Given the description of an element on the screen output the (x, y) to click on. 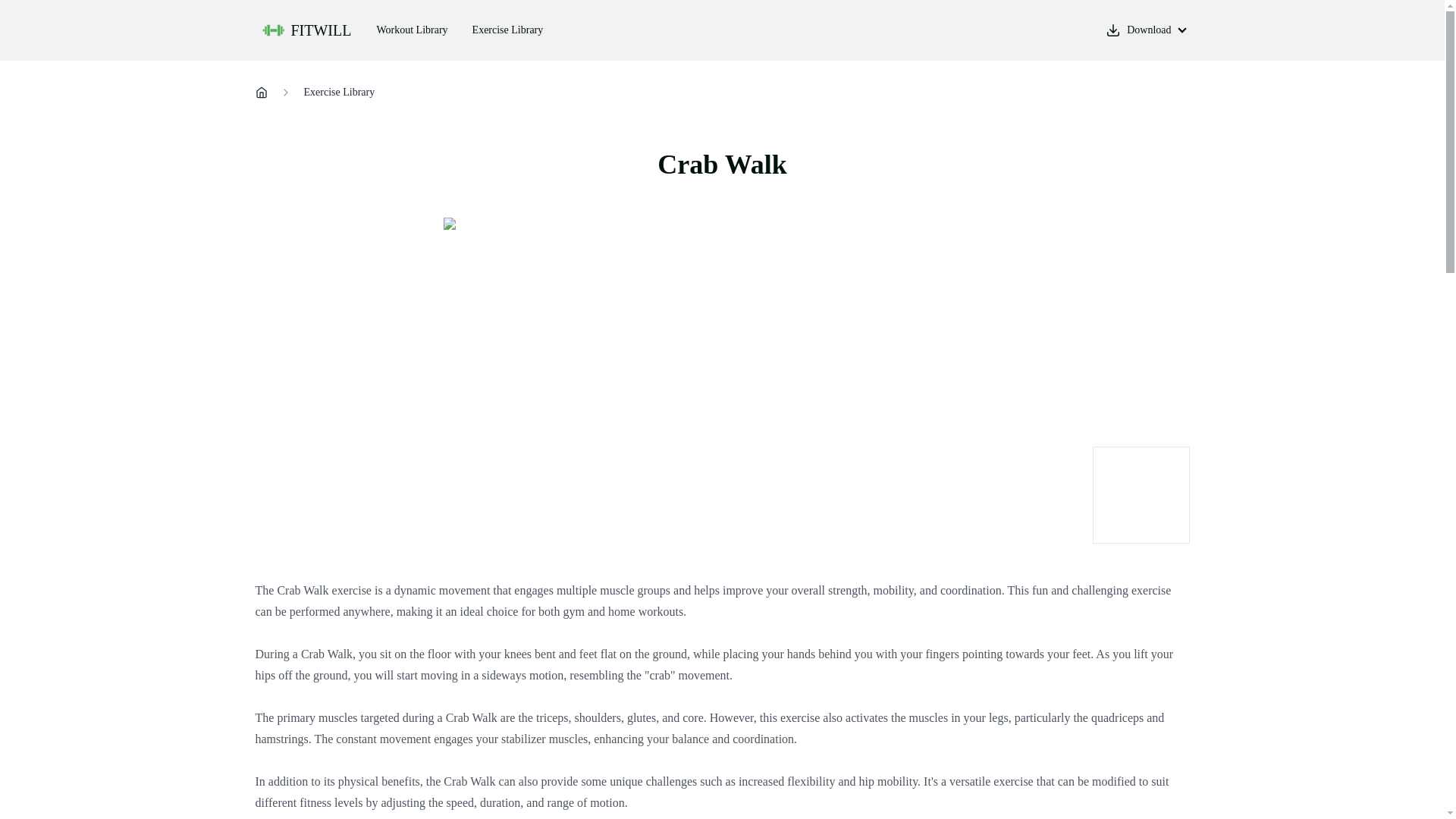
Home (260, 92)
Exercise Library (508, 30)
Exercise Library (338, 92)
Workout Library (412, 30)
FITWILL (306, 30)
QR Code: View in the Fitwill app (1140, 494)
